Given the description of an element on the screen output the (x, y) to click on. 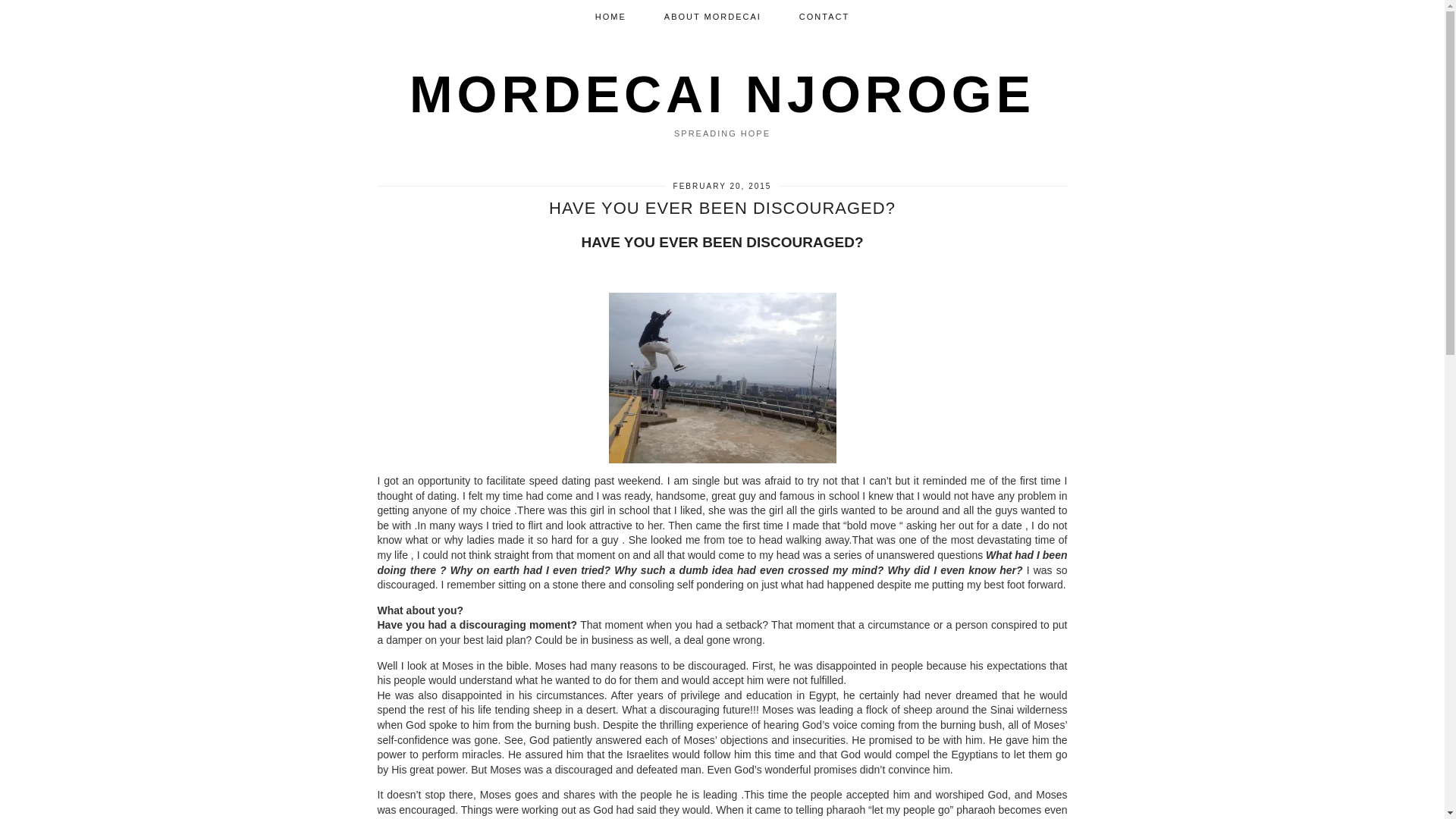
ABOUT MORDECAI (712, 16)
CONTACT (823, 16)
HOME (610, 16)
MORDECAI NJOROGE (722, 93)
Mordecai Njoroge (722, 93)
